Given the description of an element on the screen output the (x, y) to click on. 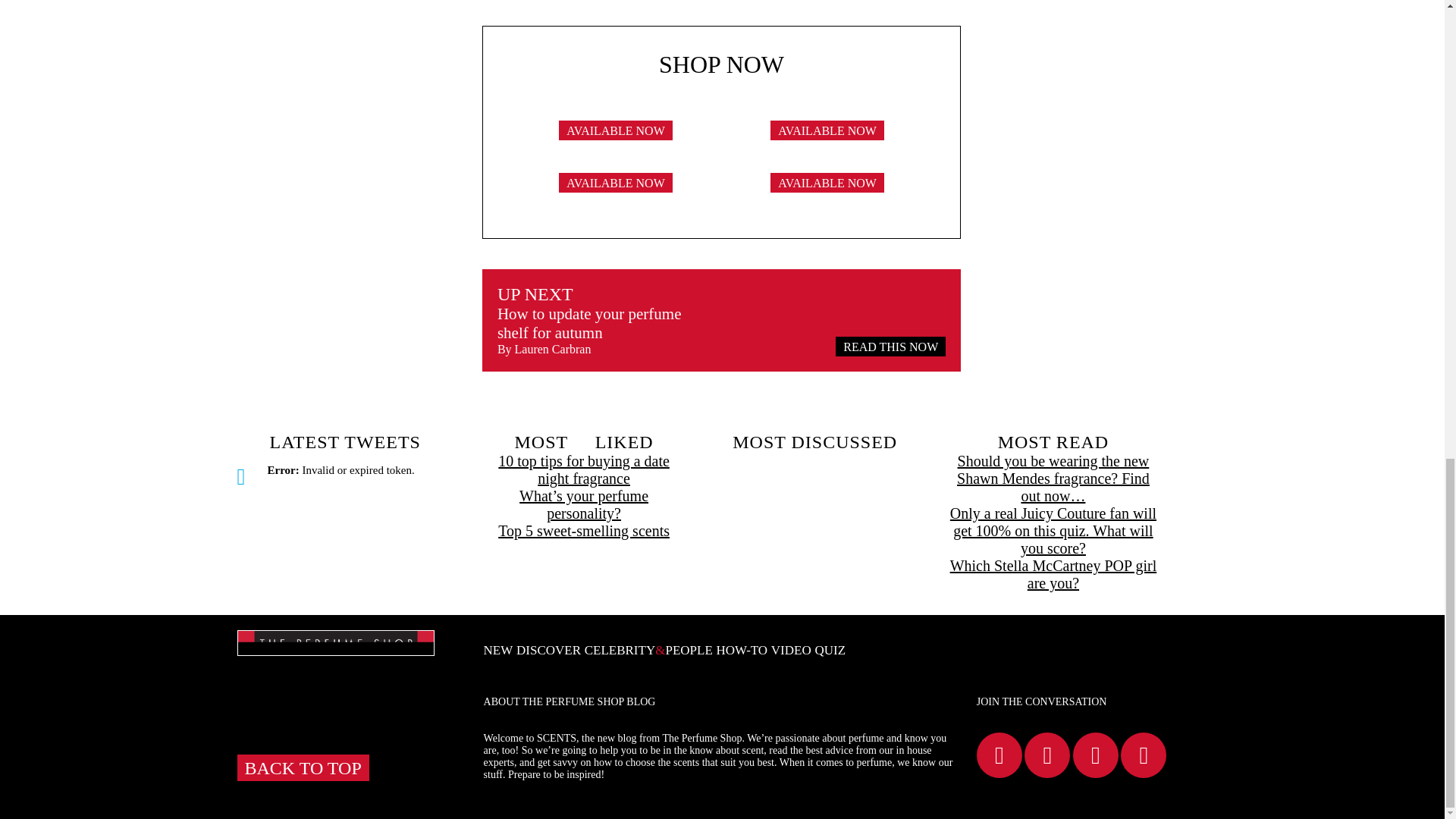
Top 5 sweet-smelling scents (583, 530)
DISCOVER (548, 649)
Top 5 sweet-smelling scents (583, 530)
Which Stella McCartney POP girl are you? (1052, 574)
AVAILABLE NOW (615, 190)
AVAILABLE NOW (827, 190)
NEW (498, 649)
Which Stella McCartney POP girl are you? (1052, 574)
AVAILABLE NOW (615, 139)
